Given the description of an element on the screen output the (x, y) to click on. 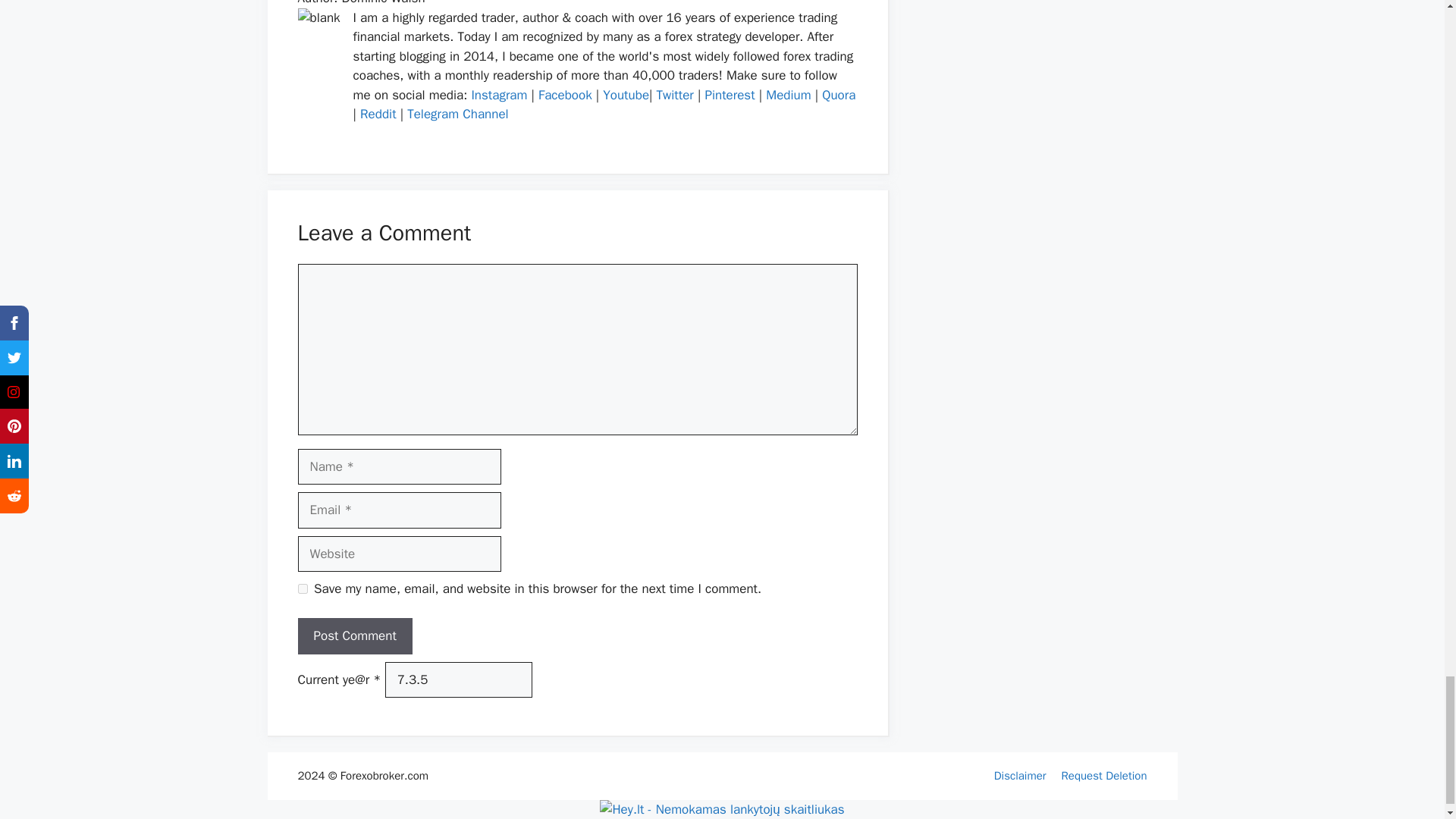
yes (302, 588)
Post Comment (354, 636)
7.3.5 (458, 679)
